Given the description of an element on the screen output the (x, y) to click on. 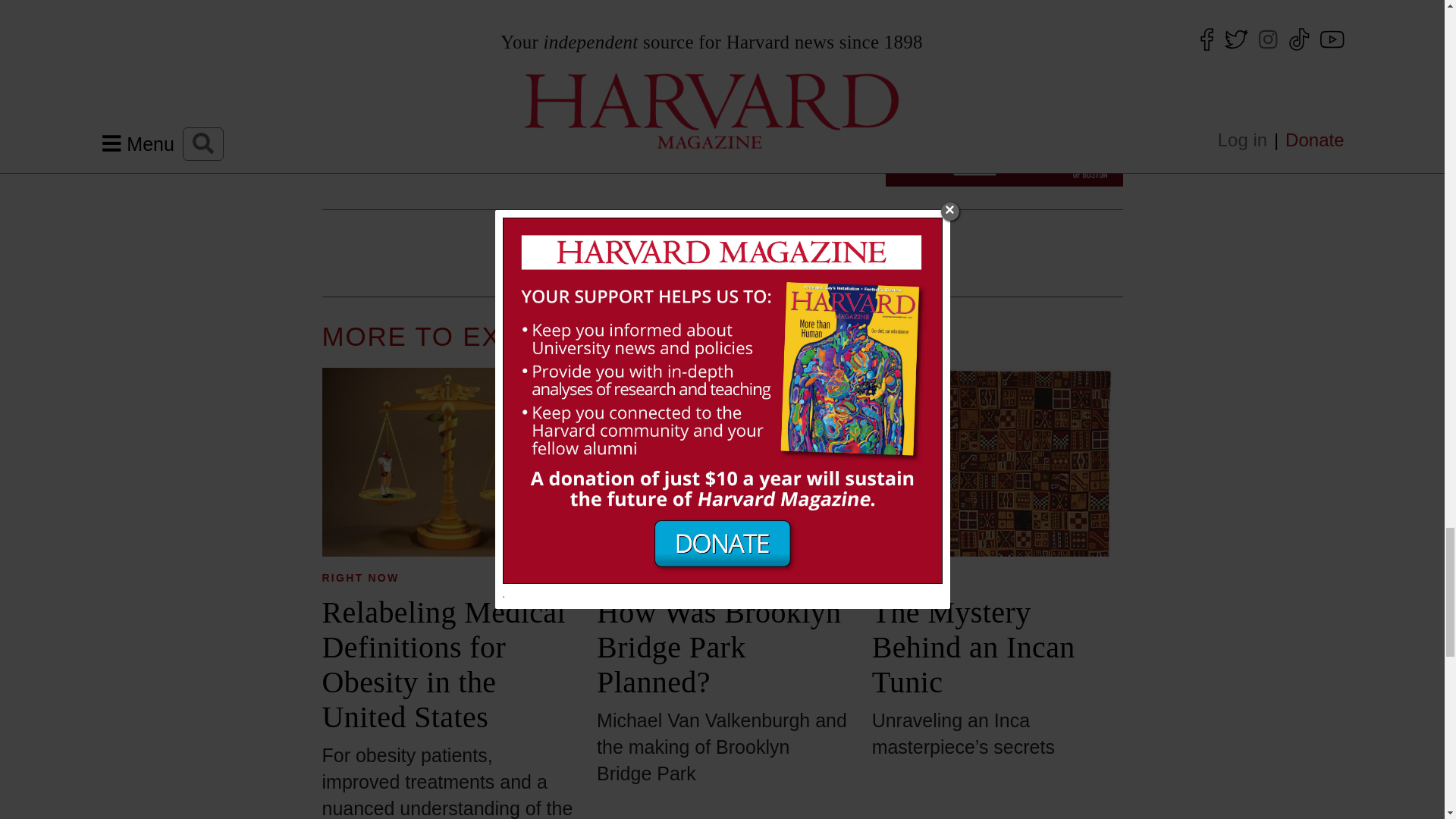
This is your year. (1003, 93)
The Value of Being Informed (590, 77)
